Given the description of an element on the screen output the (x, y) to click on. 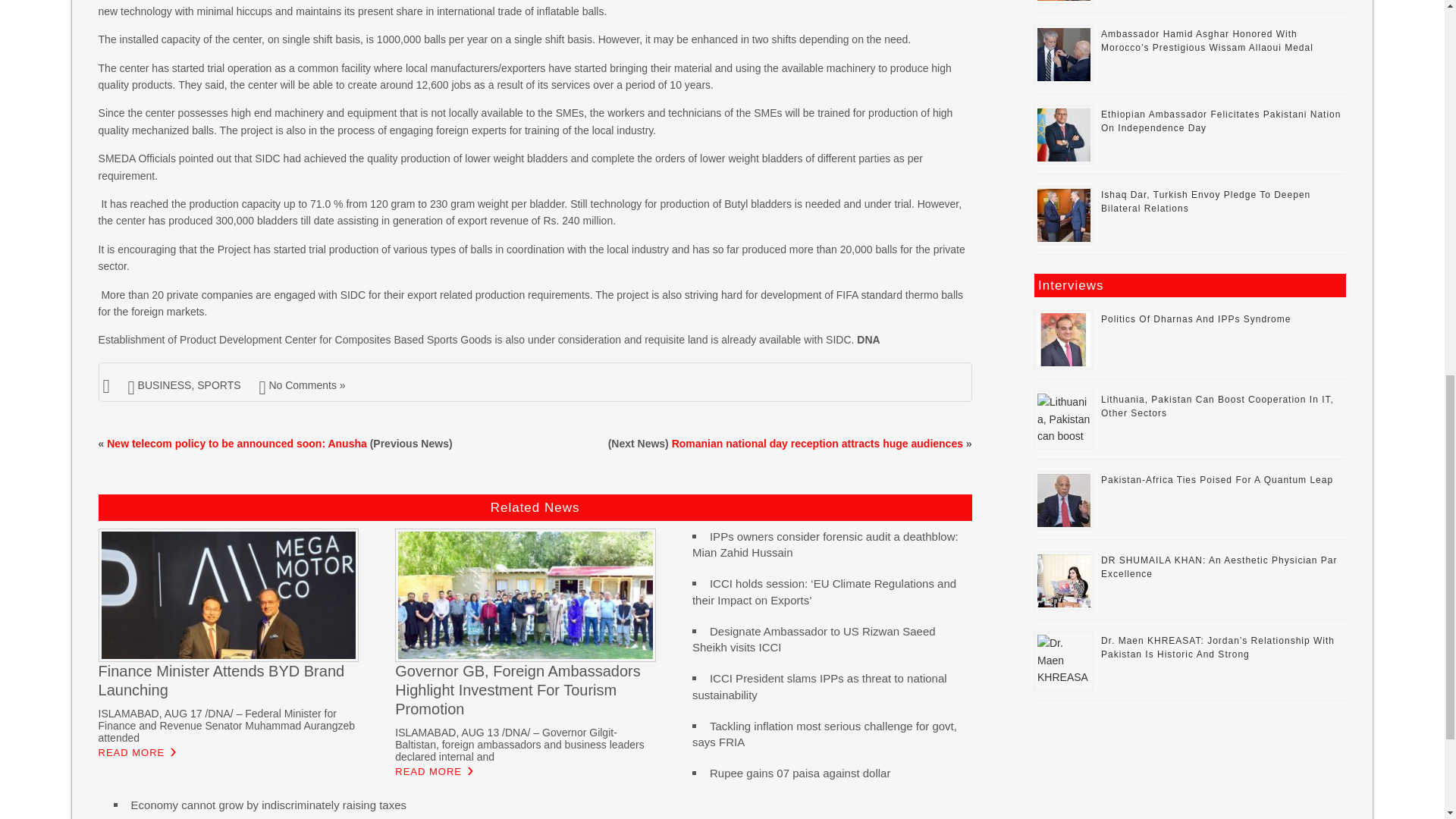
Rupee gains 07 paisa against dollar (800, 772)
Permanent Link to Rupee gains 07 paisa against dollar (800, 772)
READ MORE (427, 772)
